Given the description of an element on the screen output the (x, y) to click on. 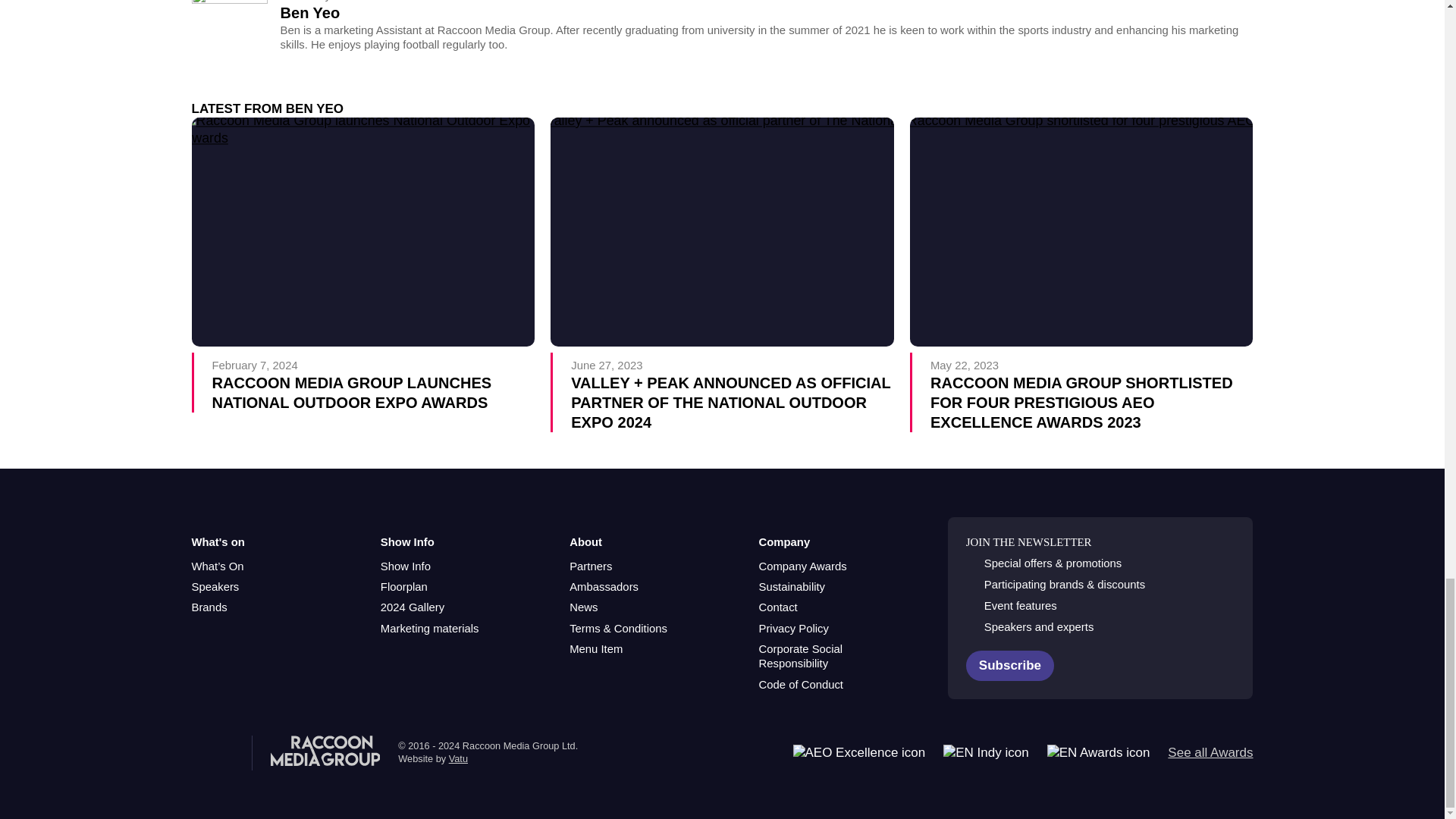
News (582, 607)
Sustainability (791, 586)
2024 Gallery (412, 607)
Code of Conduct (800, 685)
Brands (208, 607)
Corporate Social Responsibility (834, 656)
Privacy Policy (793, 628)
Company Awards (801, 566)
Menu Item (596, 649)
Ambassadors (604, 586)
Floorplan (404, 586)
Contact (777, 607)
Speakers (214, 586)
Marketing materials (429, 628)
